Given the description of an element on the screen output the (x, y) to click on. 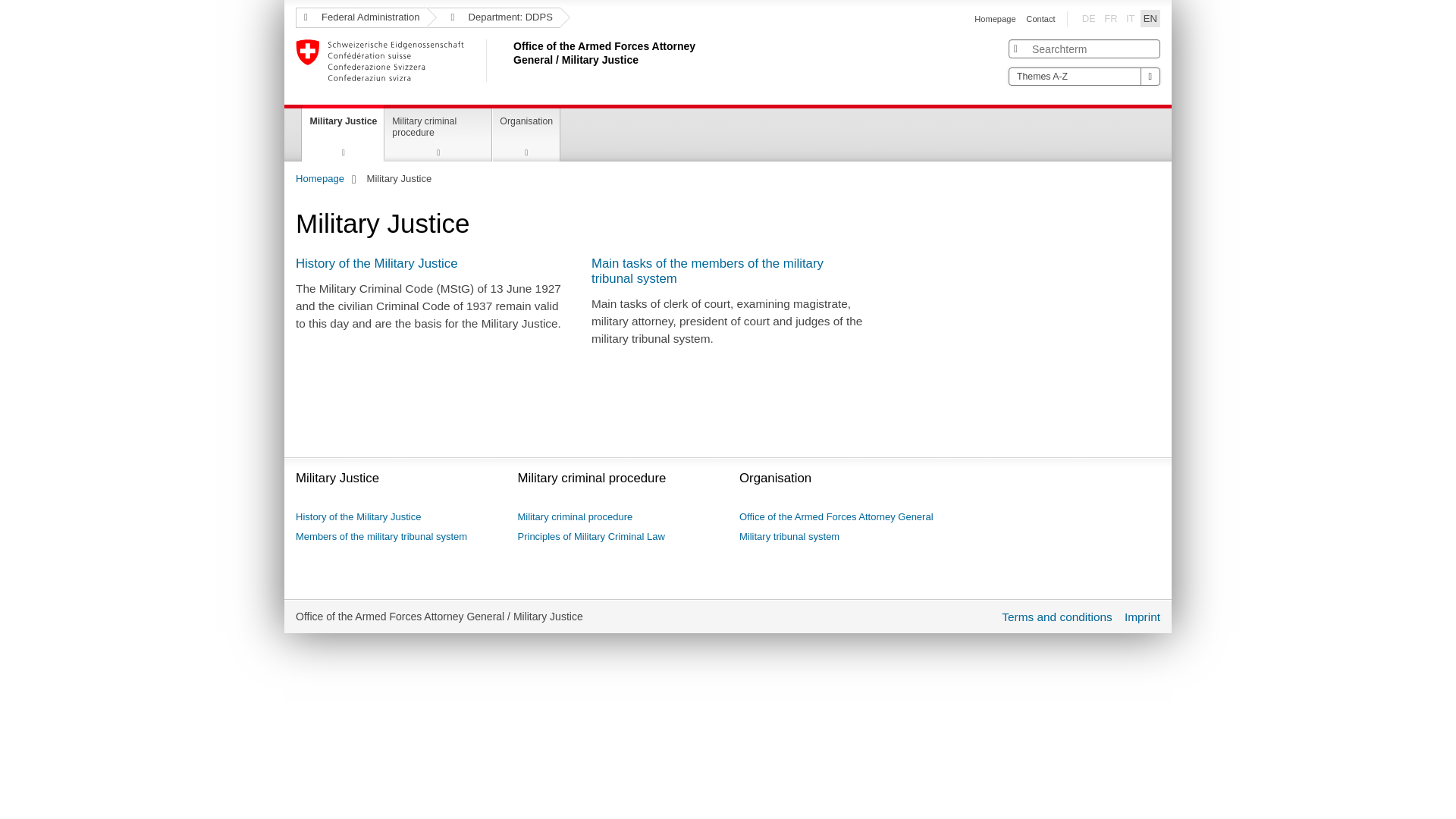
Military Justice
current page Element type: text (342, 132)
Military criminal procedure Element type: text (574, 517)
FR
disabled Element type: text (1110, 18)
EN
selected Element type: text (1150, 18)
History of the Military Justice Element type: text (357, 517)
Homepage Element type: text (994, 18)
Military tribunal system Element type: text (789, 536)
Federal Administration Element type: text (360, 17)
Members of the military tribunal system Element type: text (381, 536)
Main tasks of the members of the military tribunal system Element type: text (707, 270)
History of the Military Justice Element type: text (376, 263)
Clear Element type: text (1149, 47)
Organisation Element type: text (525, 134)
IT
disabled Element type: text (1130, 18)
Department: DDPS Element type: text (492, 17)
Terms and conditions Element type: text (1056, 616)
Office of the Armed Forces Attorney General Element type: text (836, 517)
DE
disabled Element type: text (1088, 18)
Contact Element type: text (1040, 18)
Themes A-Z Element type: text (1084, 76)
Military criminal procedure Element type: text (438, 134)
Imprint Element type: text (1142, 616)
Principles of Military Criminal Law Element type: text (590, 536)
Homepage Element type: text (319, 178)
